Given the description of an element on the screen output the (x, y) to click on. 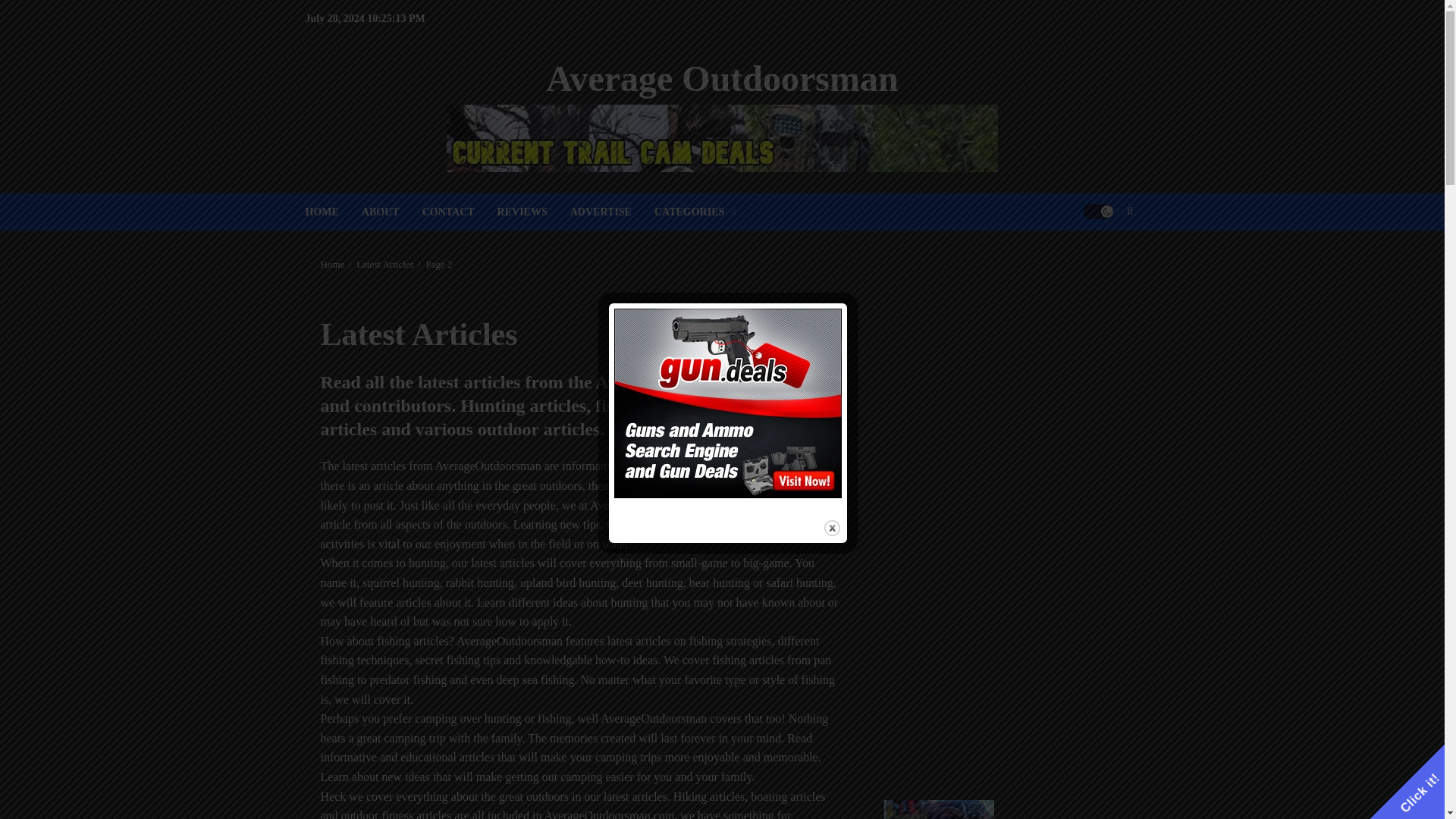
Page 2 (438, 264)
CONTACT (459, 211)
ADVERTISE (611, 211)
Advertisement (1003, 408)
HOME (332, 211)
ABOUT (391, 211)
Latest Articles (384, 264)
REVIEWS (533, 211)
Search (1099, 257)
CATEGORIES (694, 211)
Advertisement (1003, 643)
Average Outdoorsman (722, 78)
Home (331, 264)
Close (832, 528)
